Given the description of an element on the screen output the (x, y) to click on. 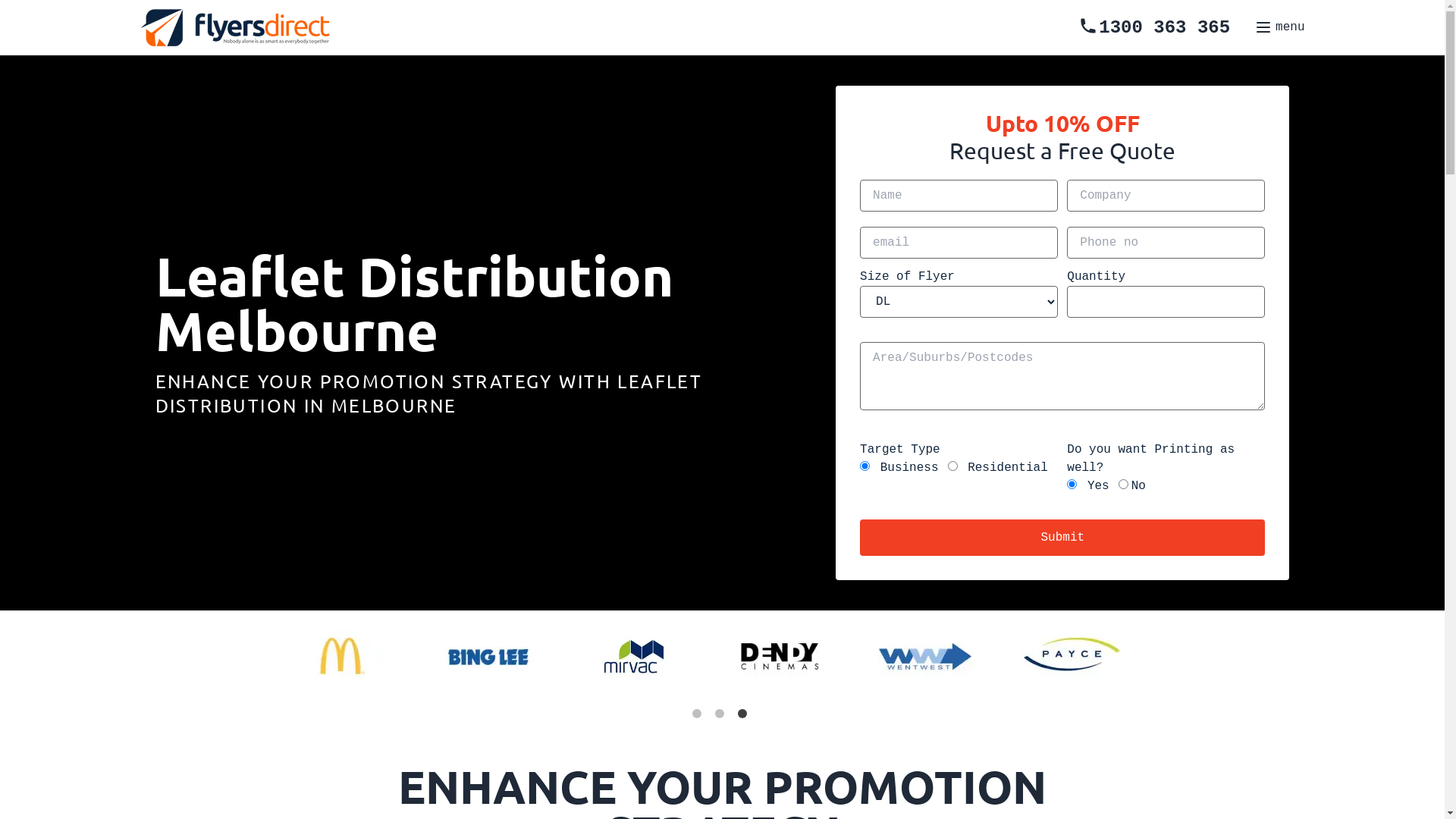
Home Element type: text (752, 420)
Submit Element type: text (1061, 537)
Contact Element type: text (760, 420)
1300 363 365 Element type: text (1153, 27)
Blog Element type: text (746, 420)
3 Element type: text (744, 716)
Leaflet Distribution Element type: text (809, 420)
1 Element type: text (698, 716)
menu Element type: text (1279, 27)
2 Element type: text (721, 716)
AVAIL NOW Element type: text (787, 427)
